Given the description of an element on the screen output the (x, y) to click on. 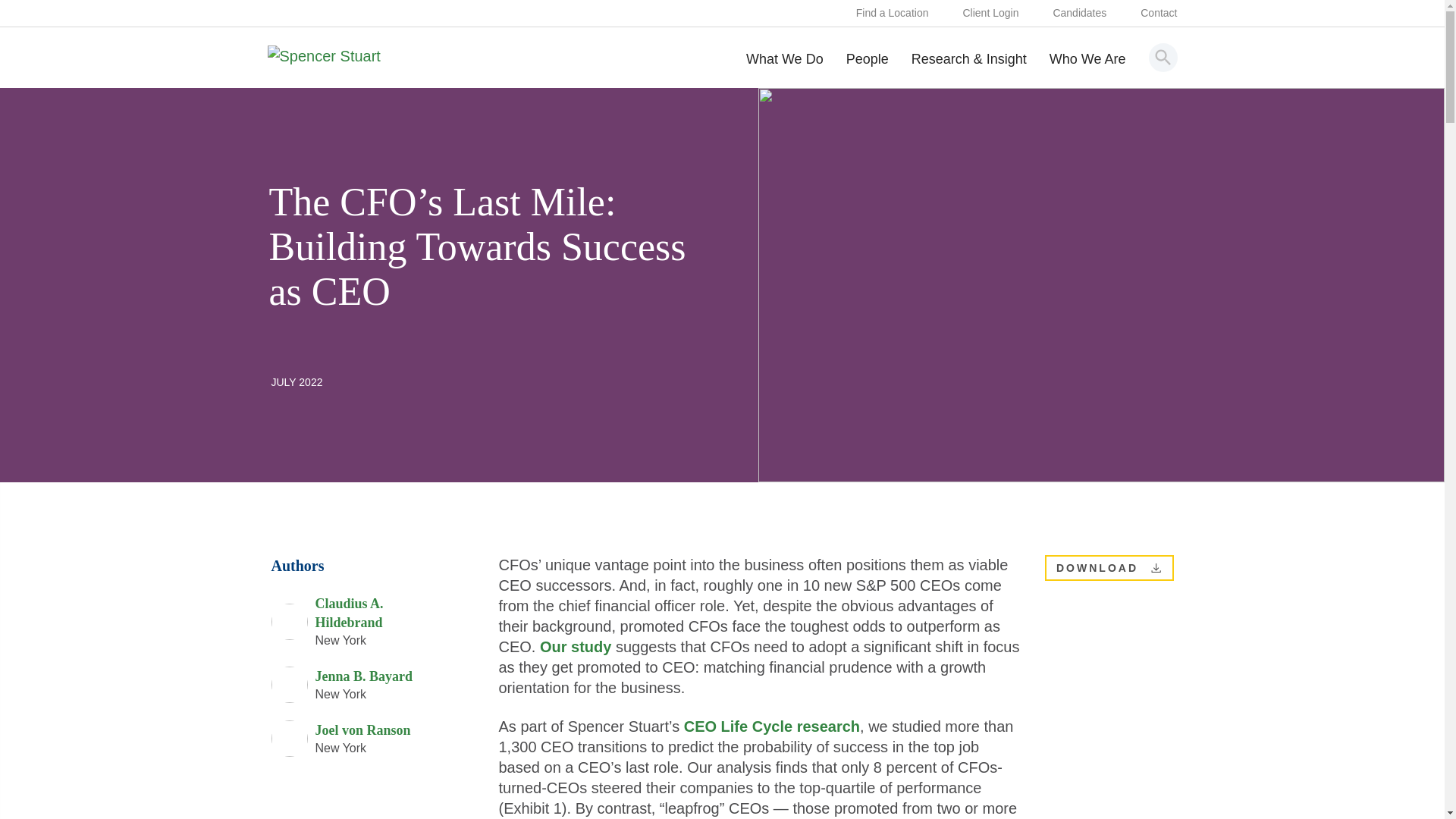
Find a Location (892, 13)
What We Do (784, 69)
Expand Search Bar (1163, 56)
Contact (1158, 13)
Candidates (1079, 13)
Client Login (989, 13)
DOWNLOAD (1155, 567)
